Given the description of an element on the screen output the (x, y) to click on. 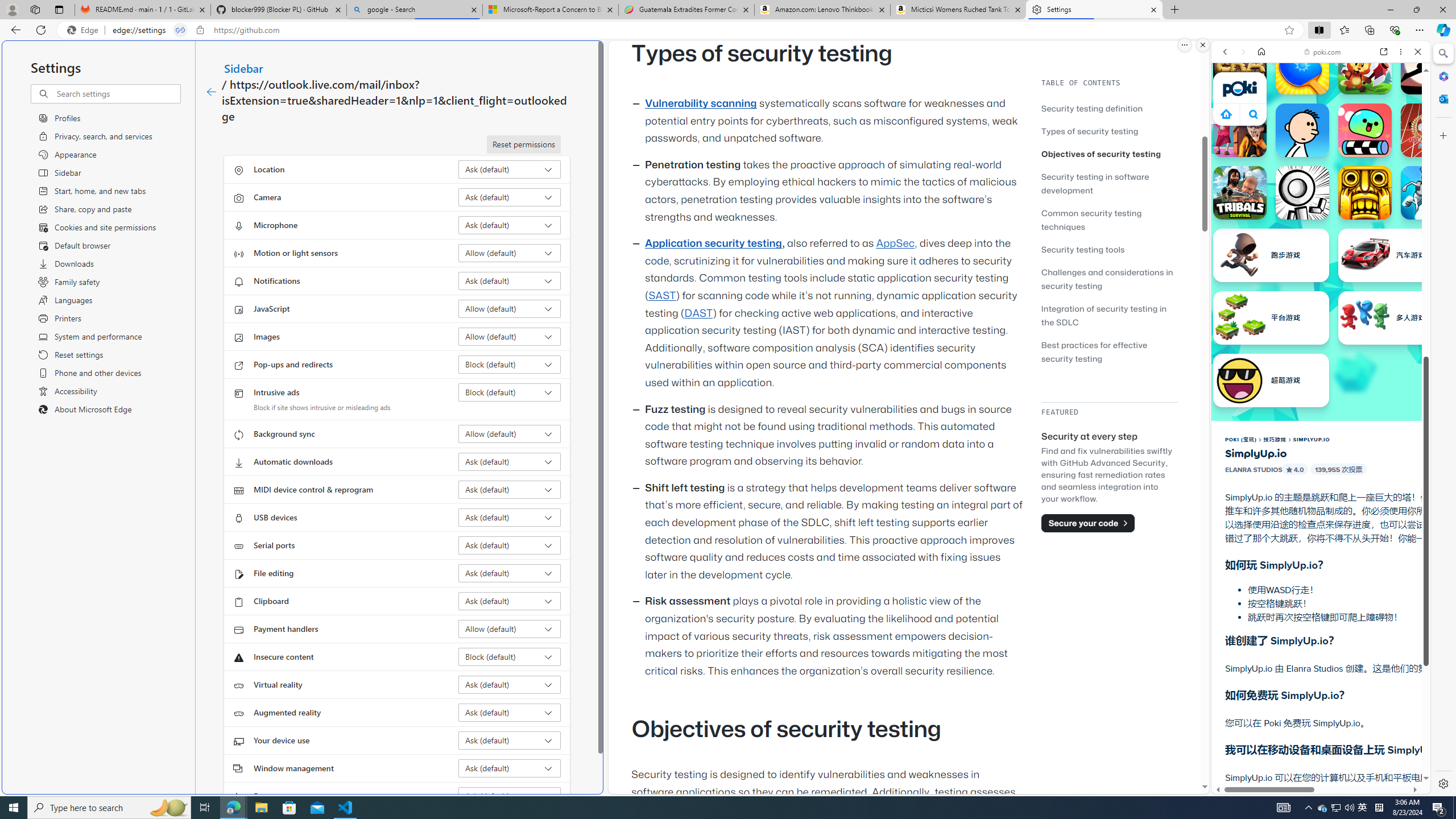
Temple Run 2 Temple Run 2 (1364, 192)
AppSec (895, 243)
Automatic downloads Ask (default) (509, 461)
Hills of Steel (1264, 580)
OvO Classic (1302, 192)
Tabs in split screen (180, 29)
Motion or light sensors Allow (default) (509, 253)
Blumgi Slime (1364, 130)
